Given the description of an element on the screen output the (x, y) to click on. 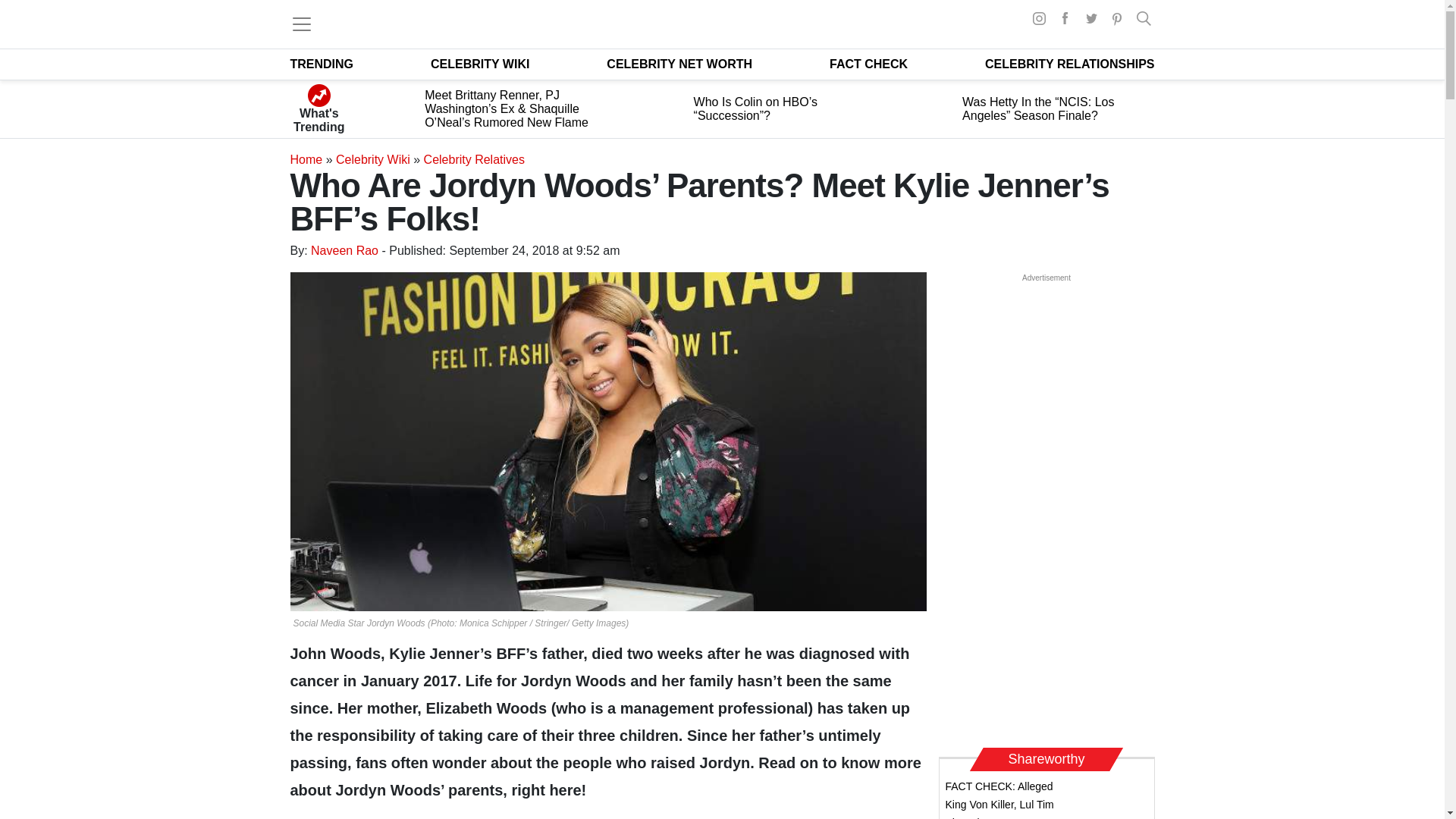
CELEBRITY WIKI (479, 63)
TRENDING (321, 63)
Celebrity Wiki (373, 159)
Menu (301, 24)
FACT CHECK (868, 63)
Posts by Naveen Rao (344, 250)
CELEBRITY RELATIONSHIPS (1069, 63)
CELEBRITY NET WORTH (679, 63)
Celebrity Relatives (473, 159)
FACT CHECK: Alleged King Von Killer, Lul Tim Shot Six... (998, 799)
